Given the description of an element on the screen output the (x, y) to click on. 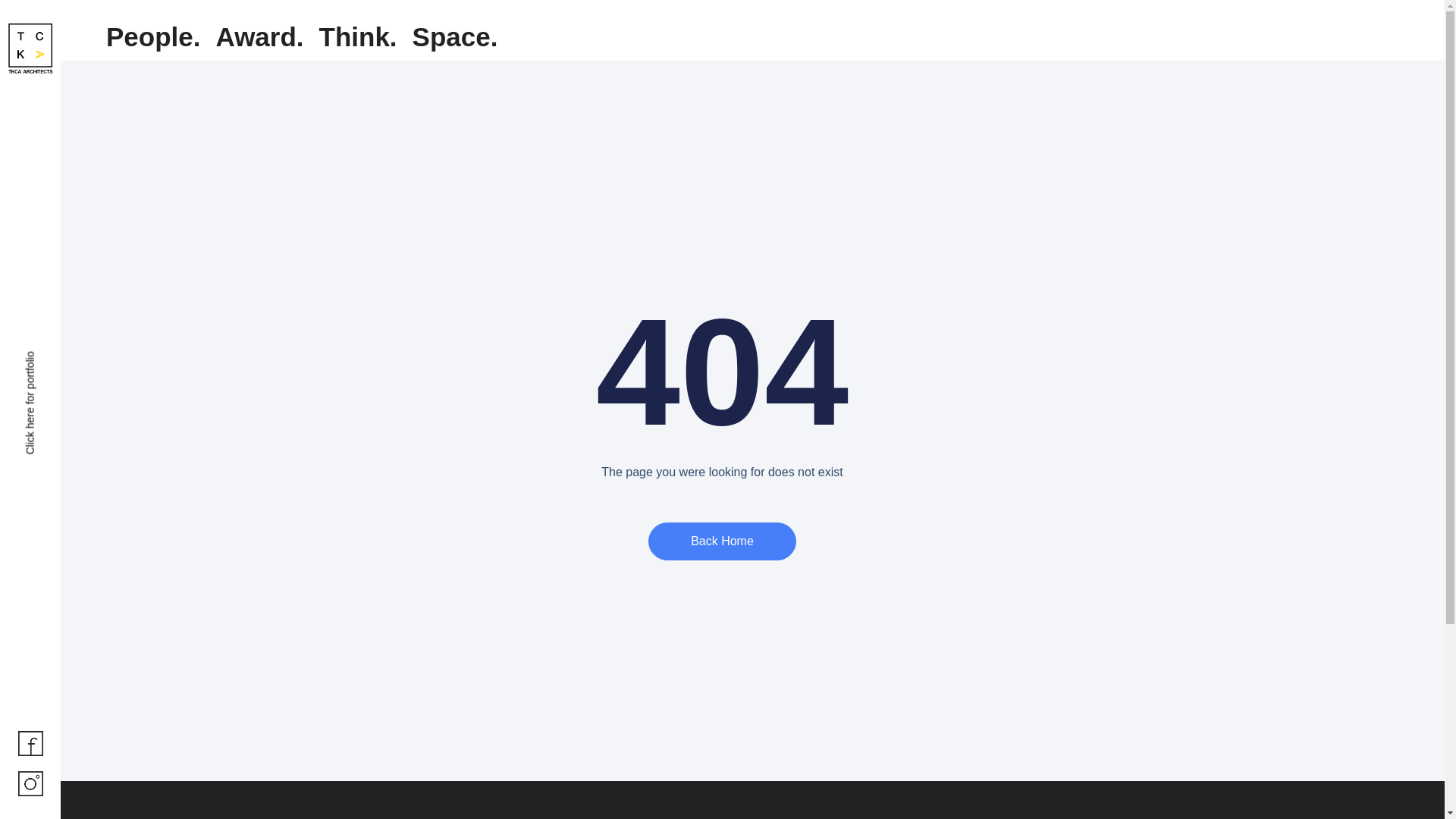
Award. (258, 36)
Back Home (721, 541)
Click here for portfolio (76, 357)
People. (153, 36)
Space. (454, 36)
Think. (357, 36)
